Given the description of an element on the screen output the (x, y) to click on. 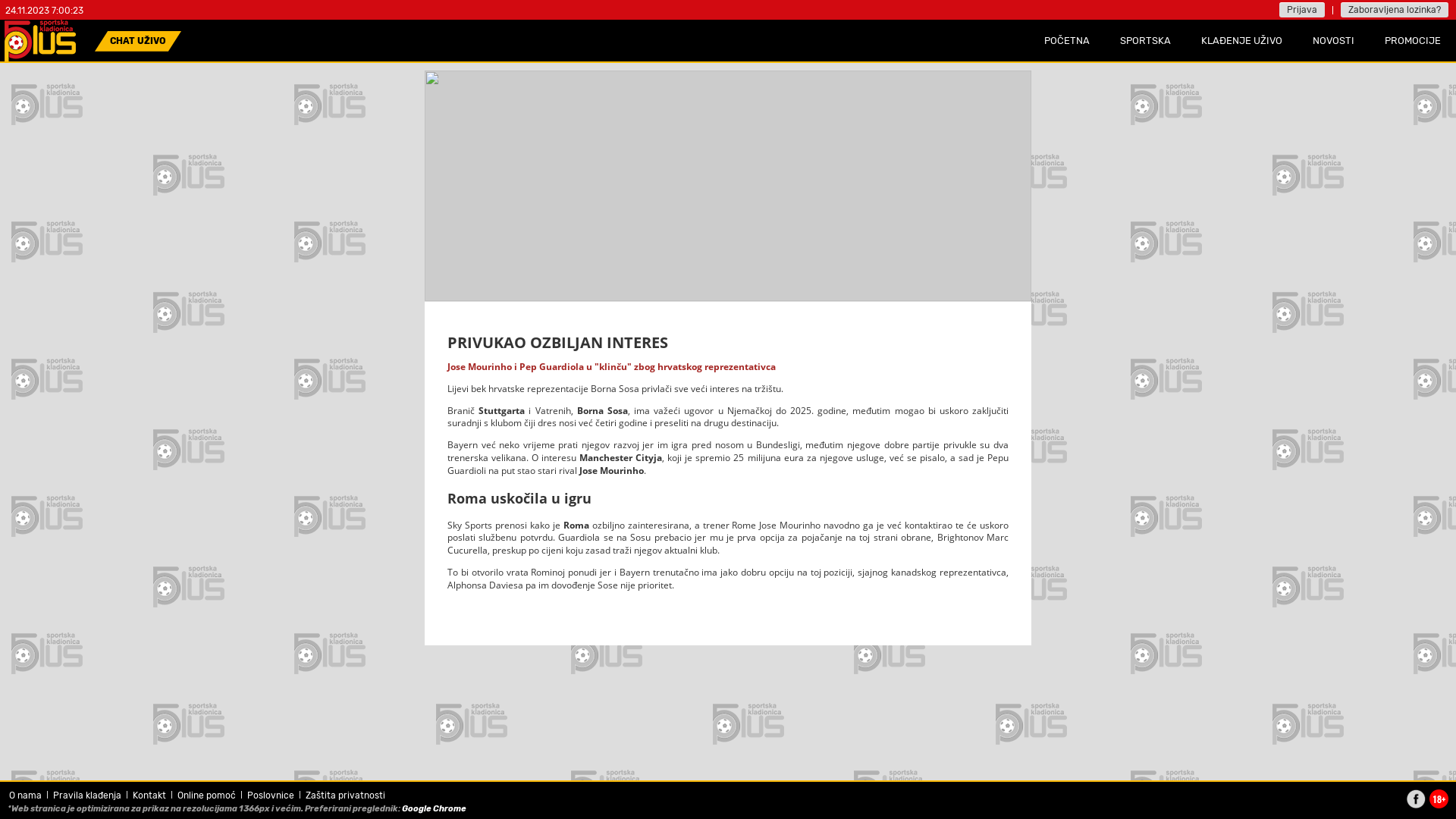
Google Chrome Element type: text (433, 808)
Prijava Element type: text (1301, 9)
Poslovnice Element type: text (270, 795)
SPORTSKA Element type: text (1145, 40)
O nama Element type: text (25, 795)
Zaboravljena lozinka? Element type: text (1394, 9)
Kontakt Element type: text (149, 795)
NOVOSTI Element type: text (1333, 40)
